Given the description of an element on the screen output the (x, y) to click on. 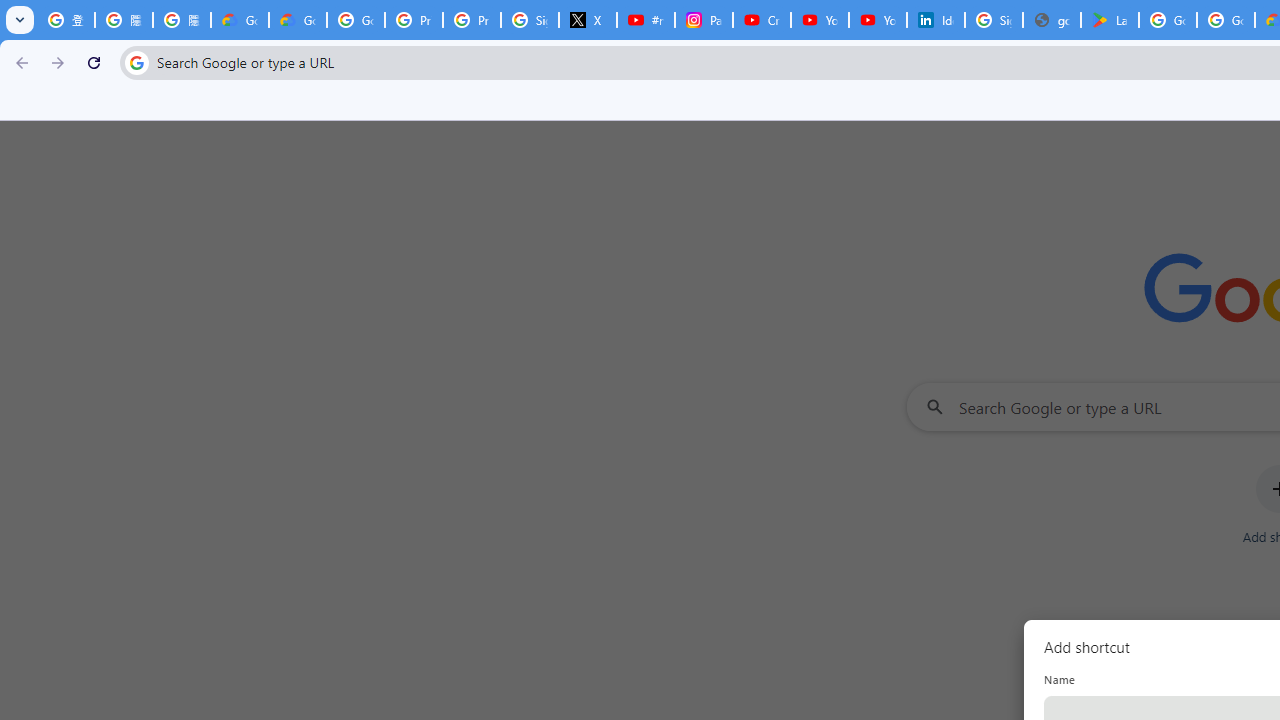
Identity verification via Persona | LinkedIn Help (936, 20)
Google Cloud Privacy Notice (297, 20)
#nbabasketballhighlights - YouTube (645, 20)
Privacy Help Center - Policies Help (471, 20)
Search icon (136, 62)
Google Cloud Privacy Notice (239, 20)
